Given the description of an element on the screen output the (x, y) to click on. 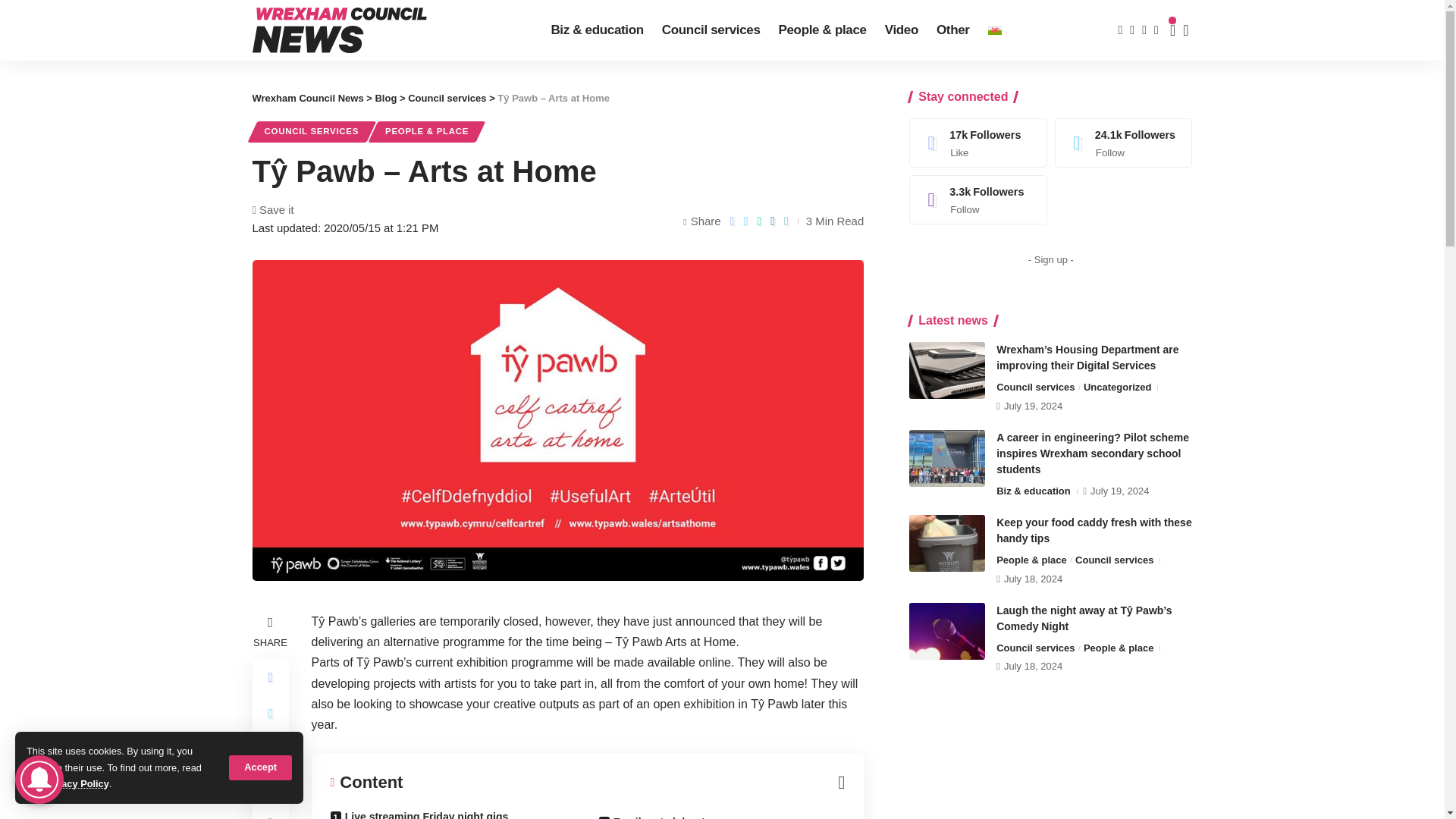
Go to Wrexham Council News. (306, 98)
Facebook (978, 142)
Council services (711, 30)
Privacy Policy (76, 783)
Go to the Council services Category archives. (446, 98)
Accept (260, 767)
Go to Blog. (385, 98)
Twitter (1123, 142)
Instagram (978, 199)
Wrexham Council News (338, 30)
